Given the description of an element on the screen output the (x, y) to click on. 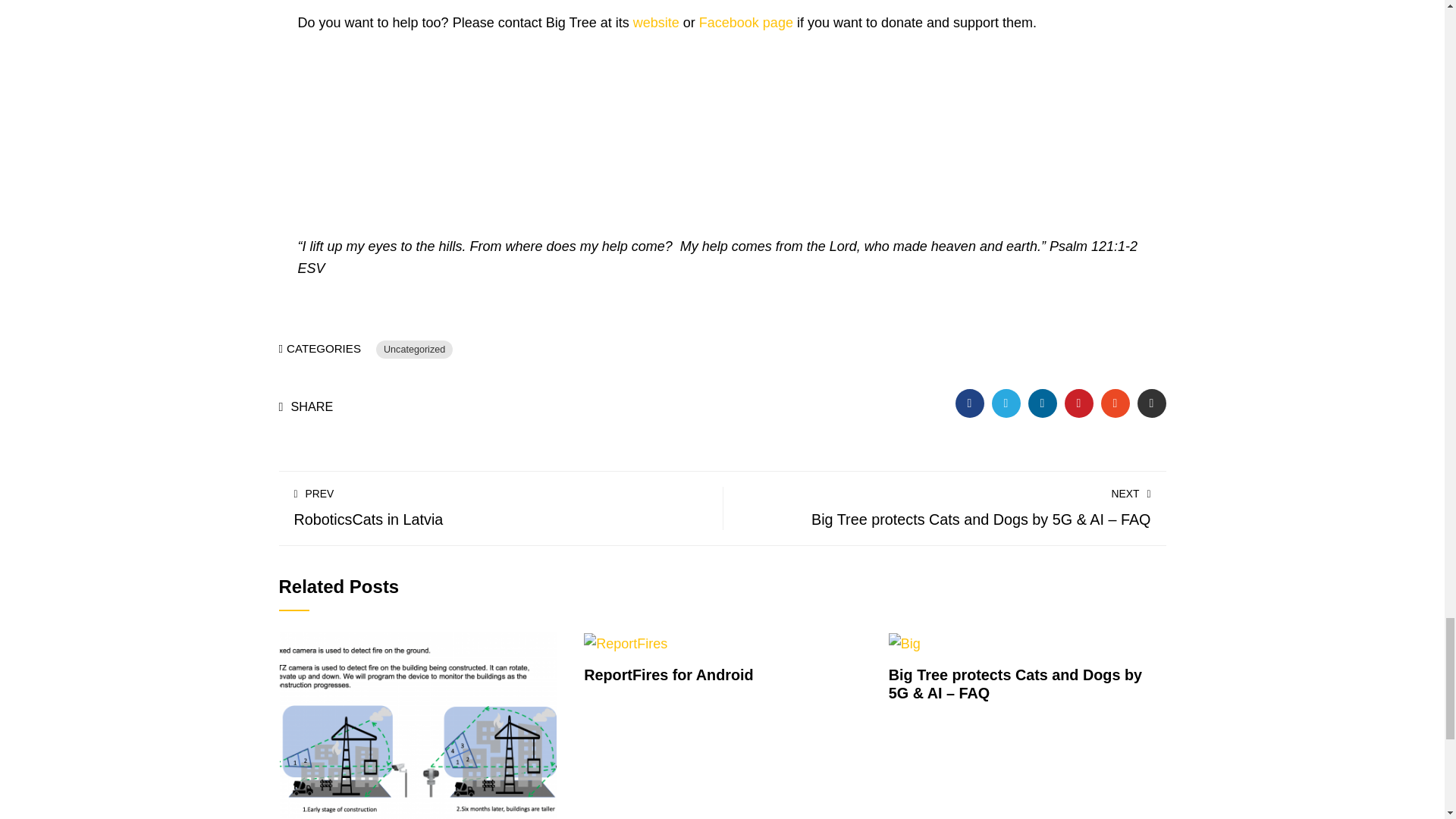
Construction Site Fire Detection (418, 728)
ReportFires for Android (667, 674)
ReportFires for Android (624, 642)
